Given the description of an element on the screen output the (x, y) to click on. 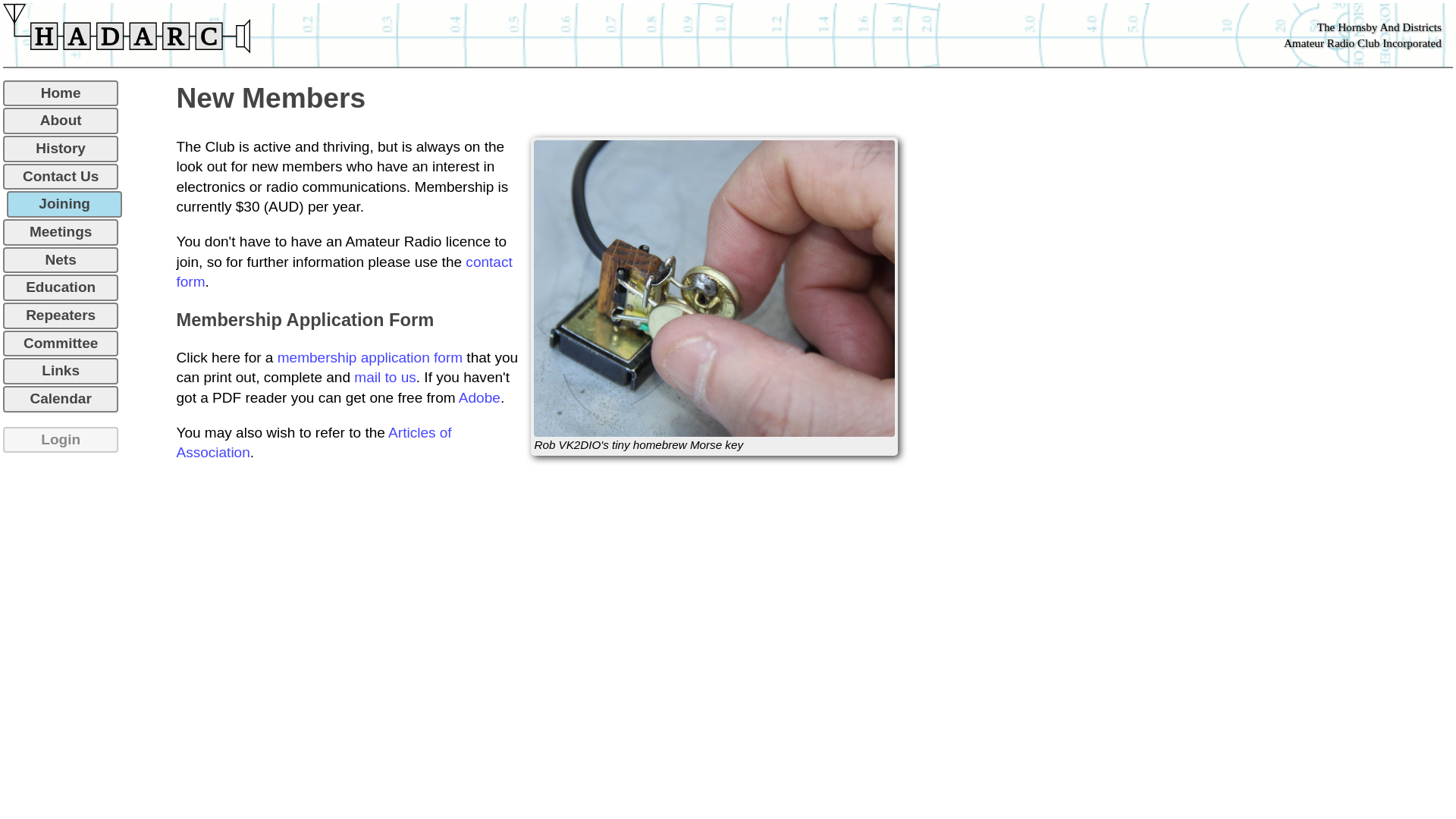
Contact Us Element type: text (60, 176)
Committee Element type: text (60, 343)
Adobe Element type: text (479, 397)
Calendar Element type: text (60, 398)
Meetings Element type: text (60, 232)
Home Element type: text (60, 93)
contact form Element type: text (343, 272)
Joining Element type: text (64, 204)
About Element type: text (60, 120)
Repeaters Element type: text (60, 315)
membership application form Element type: text (369, 357)
History Element type: text (60, 148)
Links Element type: text (60, 370)
mail to us Element type: text (384, 377)
Education Element type: text (60, 287)
Articles of Association Element type: text (313, 442)
Login Element type: text (60, 439)
Nets Element type: text (60, 260)
